Given the description of an element on the screen output the (x, y) to click on. 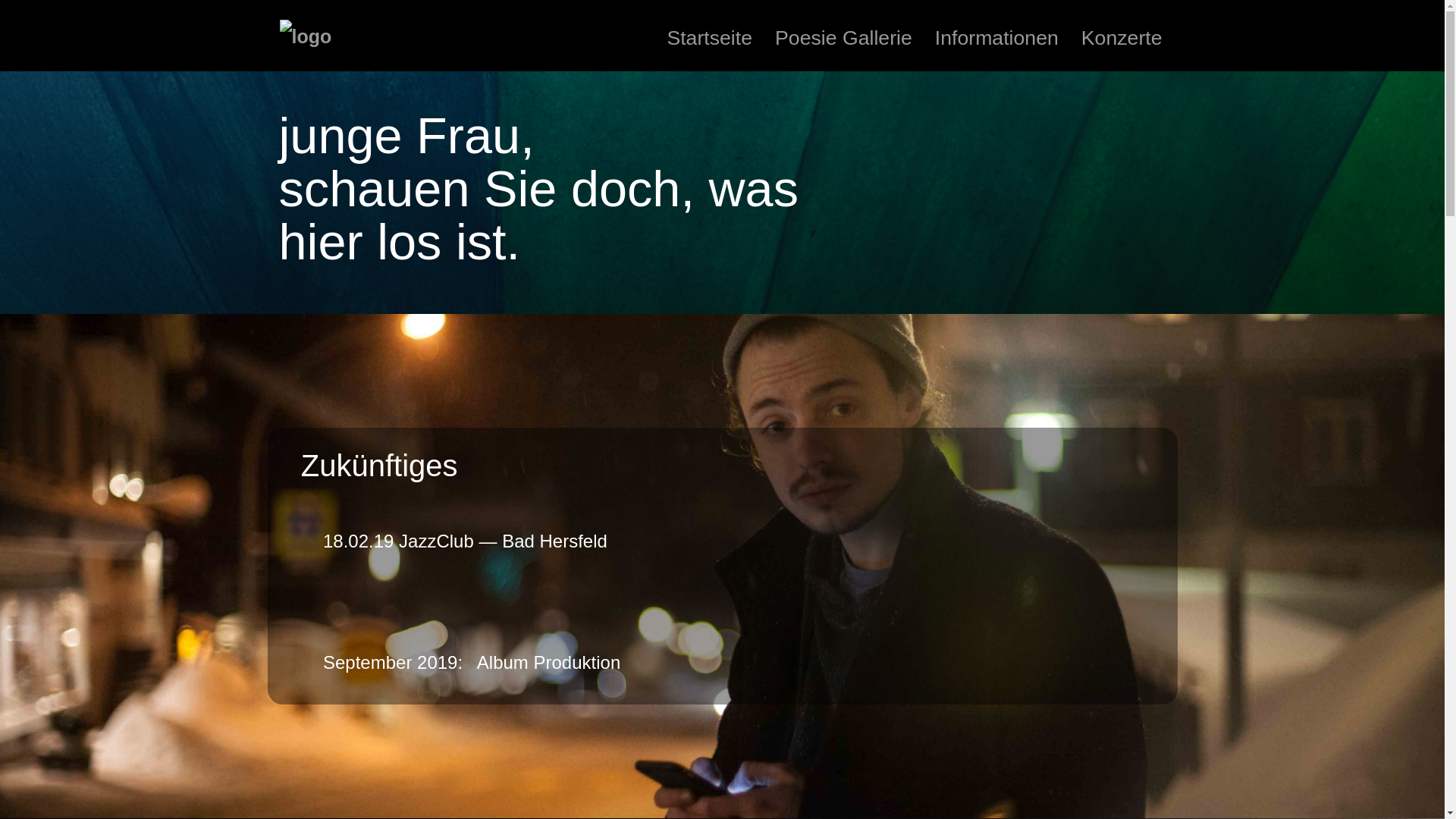
Konzerte Element type: text (1121, 37)
Startseite Element type: text (709, 37)
Poesie Gallerie Element type: text (843, 37)
Informationen Element type: text (996, 37)
